Given the description of an element on the screen output the (x, y) to click on. 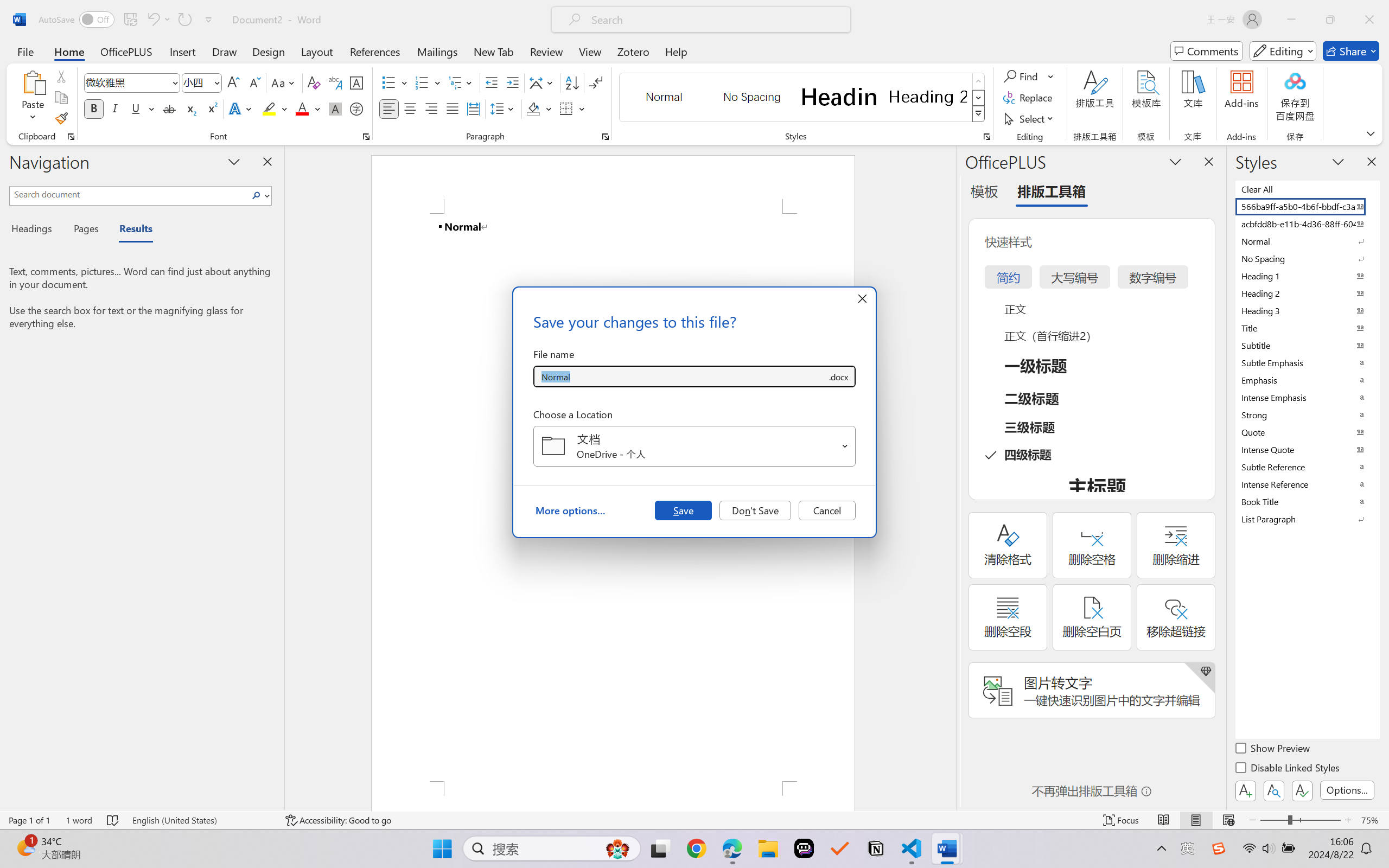
Normal (1306, 240)
Sort... (571, 82)
Select (1030, 118)
Microsoft search (715, 19)
AutomationID: QuickStylesGallery (802, 97)
Multilevel List (461, 82)
Subtle Reference (1306, 466)
566ba9ff-a5b0-4b6f-bbdf-c3ab41993fc2 (1306, 206)
Cut (60, 75)
Distributed (473, 108)
Zoom (1300, 819)
Phonetic Guide... (334, 82)
